Given the description of an element on the screen output the (x, y) to click on. 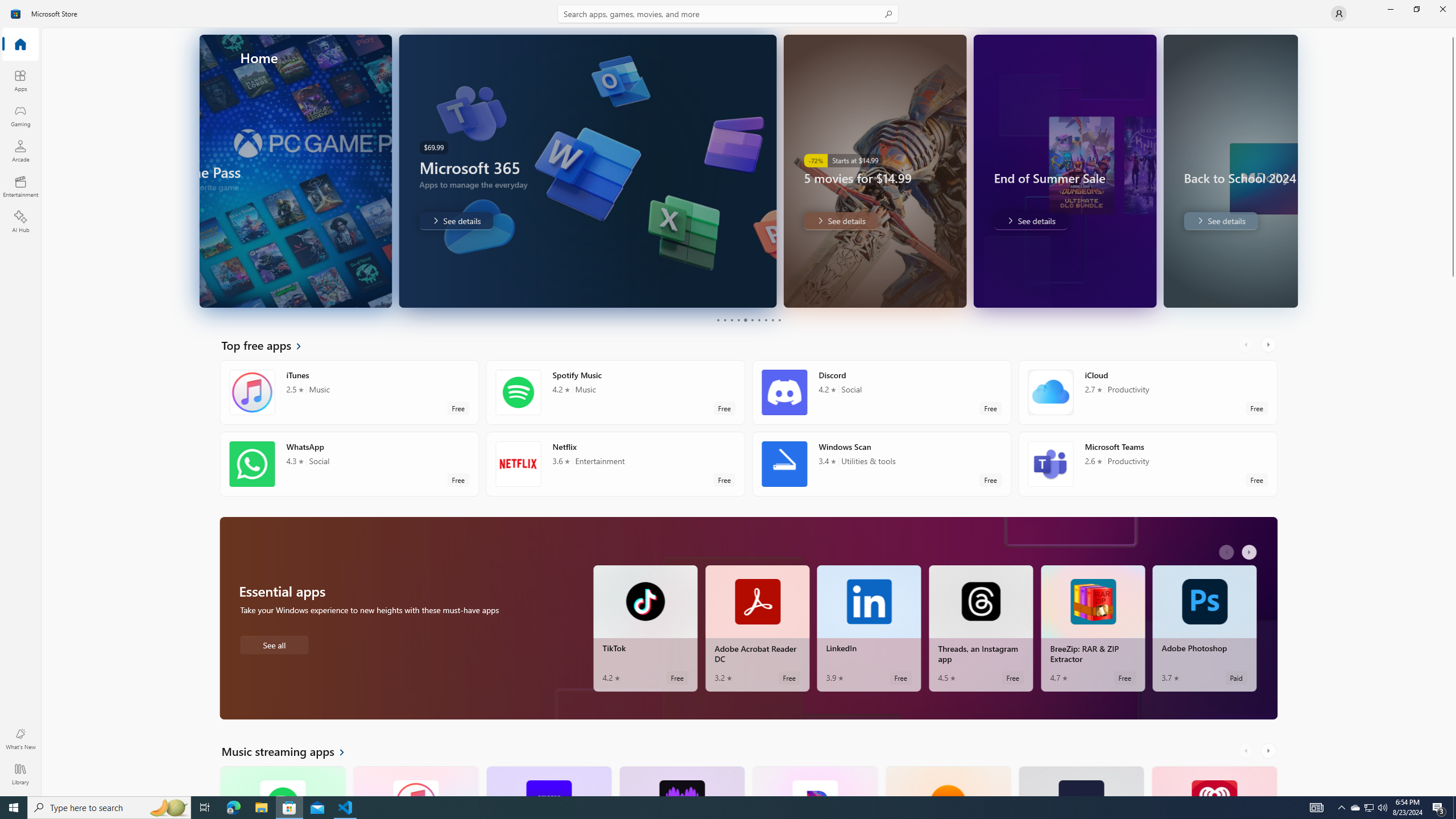
Page 6 (751, 319)
Search (727, 13)
User profile (1338, 13)
Vertical Small Increase (1452, 792)
LinkedIn. Average rating of 3.9 out of five stars. Free   (868, 628)
AI Hub (20, 221)
What's New (20, 738)
Page 10 (779, 319)
iCloud. Average rating of 2.7 out of five stars. Free   (1146, 392)
AutomationID: LeftScrollButton (1246, 750)
Page 7 (758, 319)
See all  Music streaming apps (289, 750)
Page 2 (724, 319)
